Given the description of an element on the screen output the (x, y) to click on. 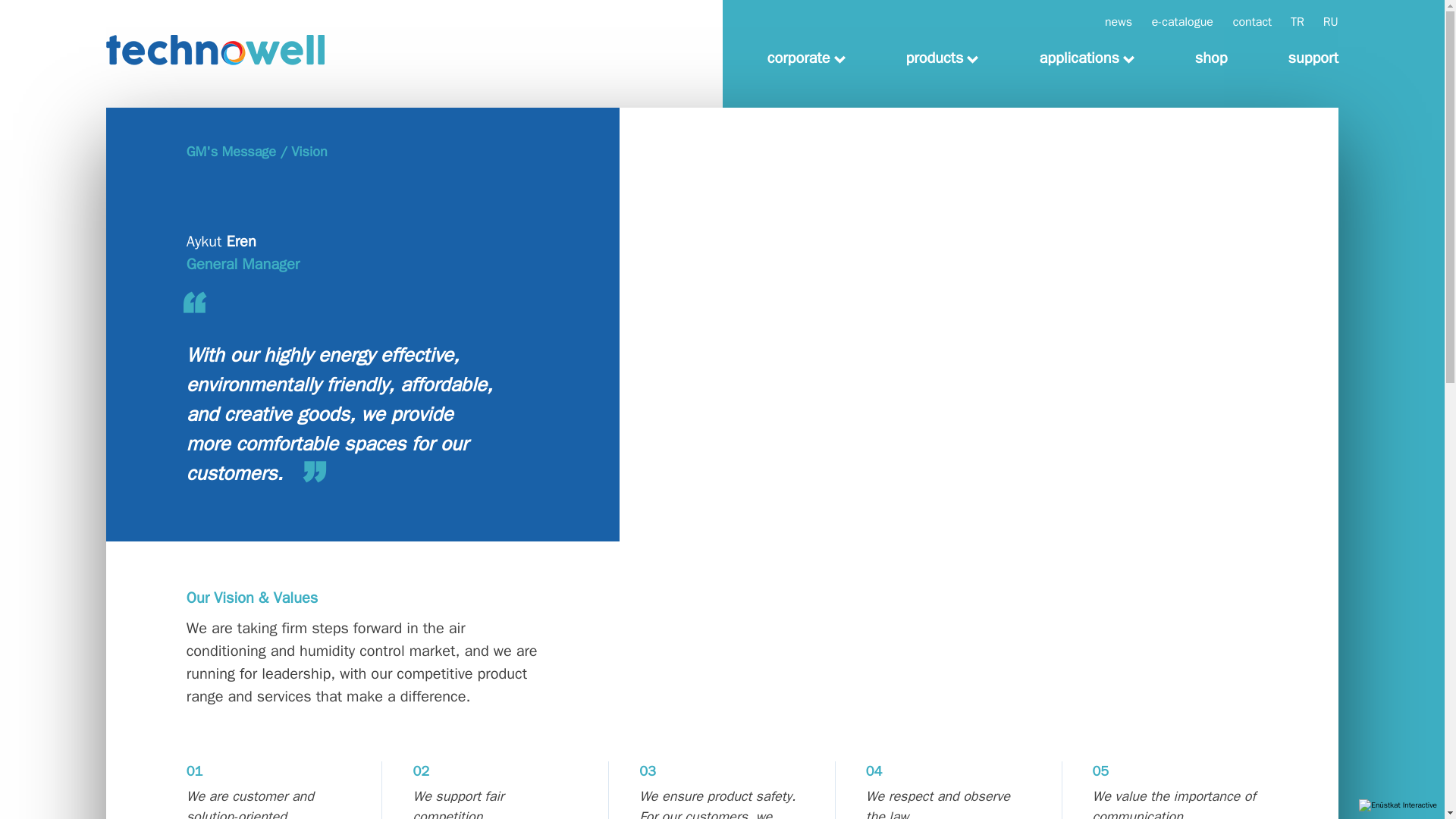
applications (1086, 57)
contact (1244, 21)
TR (1289, 21)
support (1297, 57)
shop (1210, 57)
RU (1322, 21)
news (1110, 21)
corporate (806, 57)
products (942, 57)
e-catalogue (1173, 21)
